Given the description of an element on the screen output the (x, y) to click on. 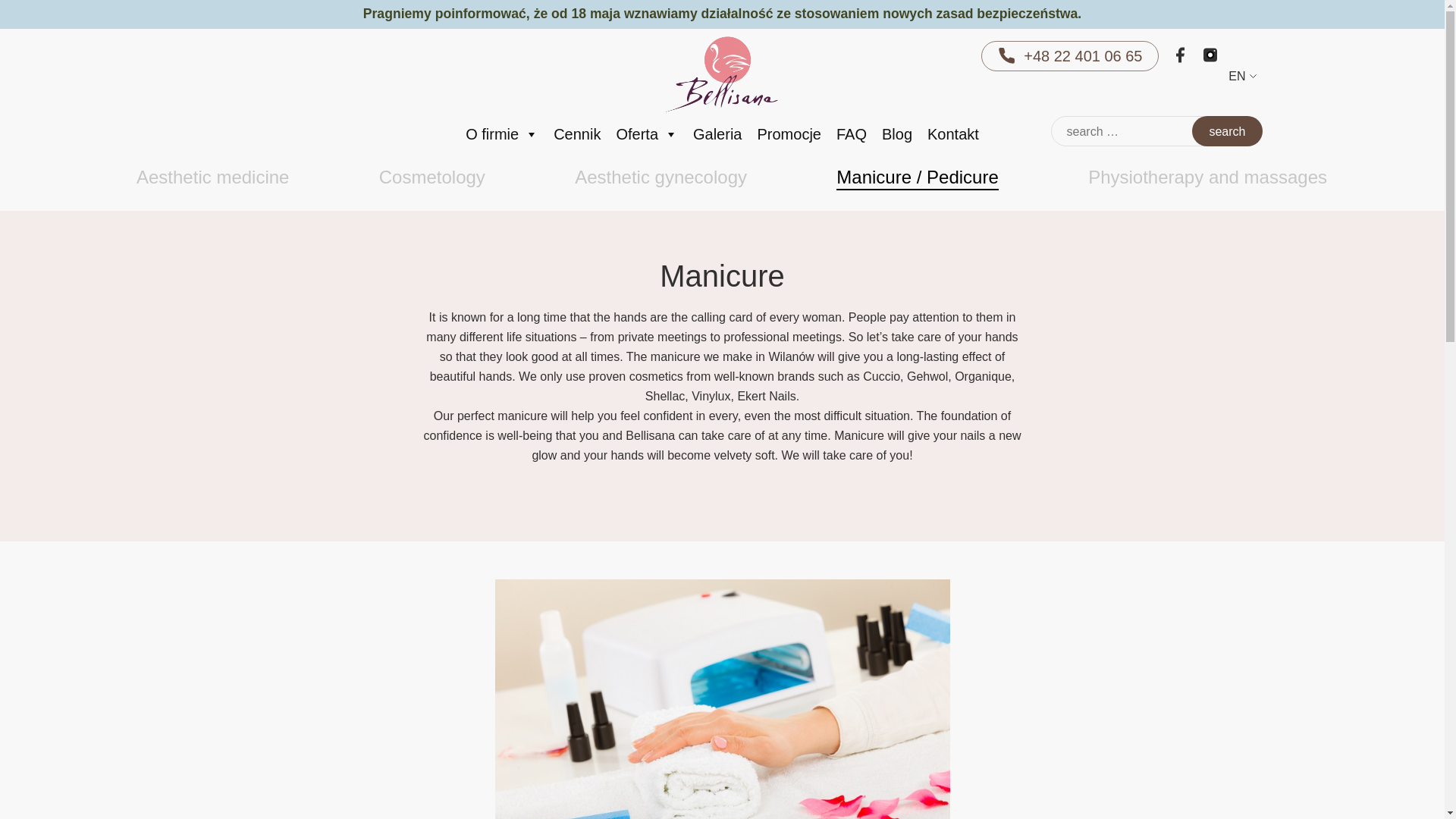
Oferta (646, 134)
Cennik (577, 134)
search (1227, 131)
search (1227, 131)
O firmie (502, 134)
